Given the description of an element on the screen output the (x, y) to click on. 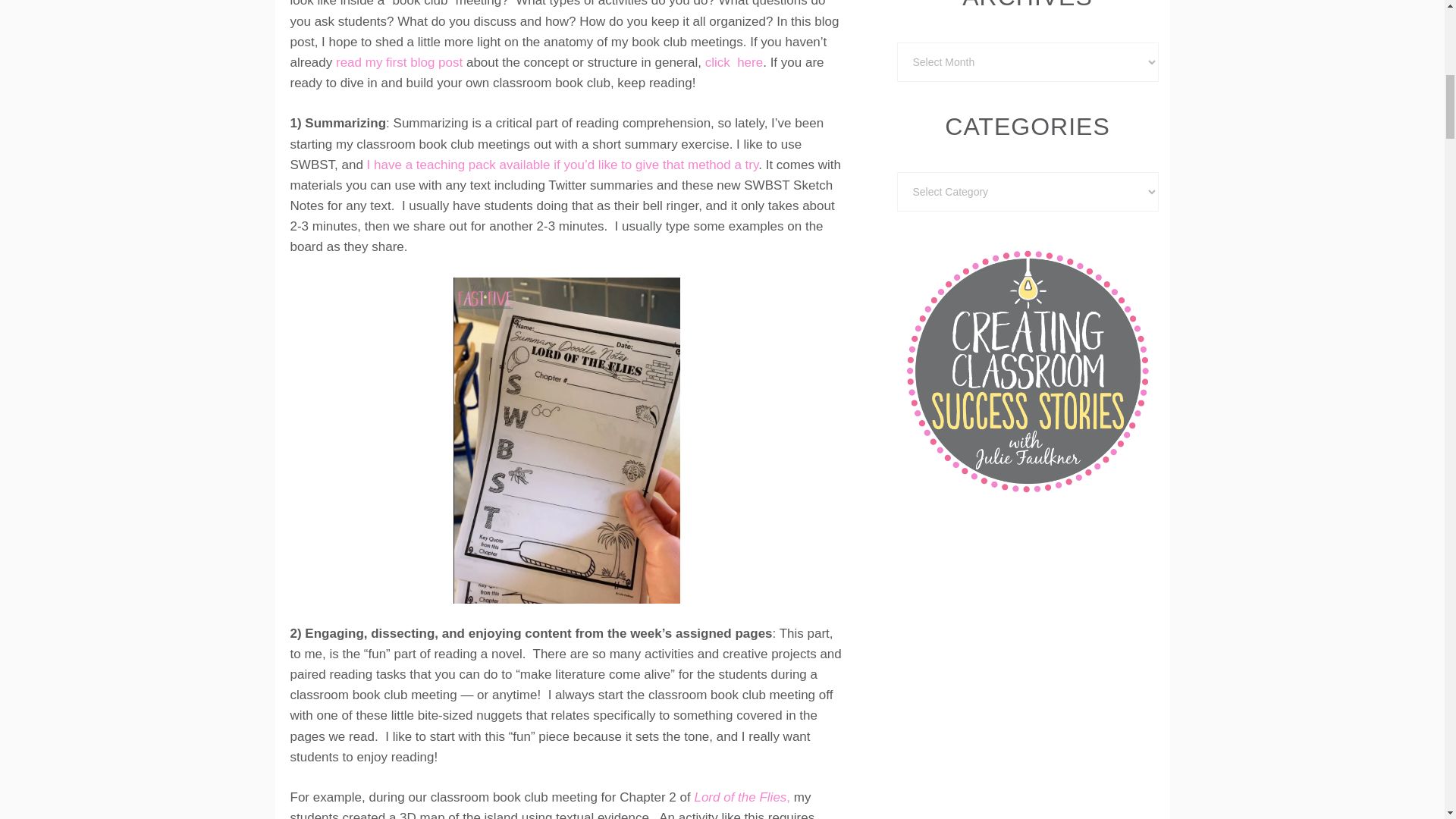
click  here (733, 62)
Lord of the Flies, (742, 797)
read my first blog post (399, 62)
